Given the description of an element on the screen output the (x, y) to click on. 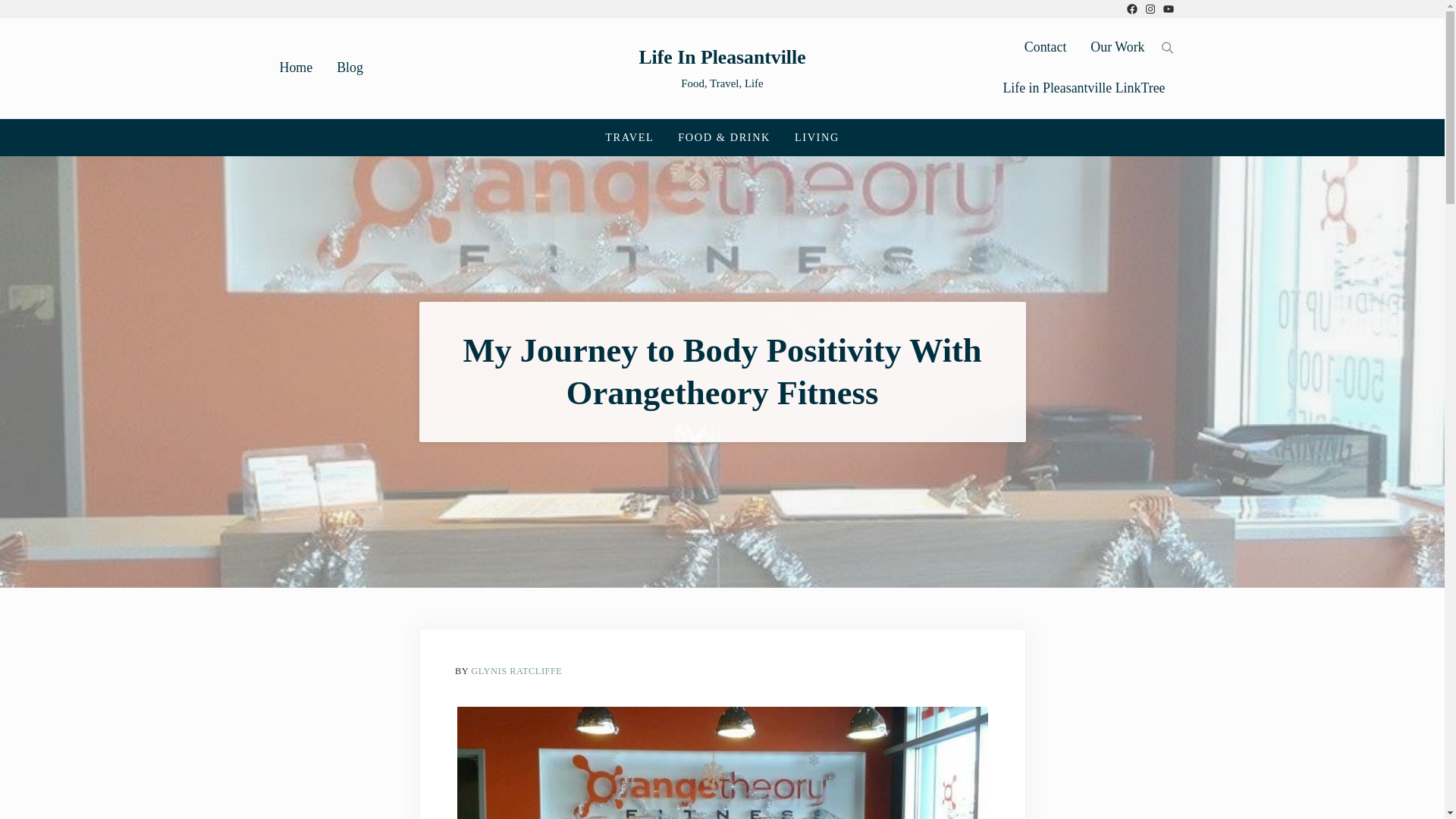
Home (295, 67)
Life in Pleasantville LinkTree (1083, 87)
Life In Pleasantville (722, 56)
Contact (1044, 47)
Blog (349, 67)
Our Work (1117, 47)
YouTube (1167, 9)
TRAVEL (628, 137)
GLYNIS RATCLIFFE (516, 670)
